Given the description of an element on the screen output the (x, y) to click on. 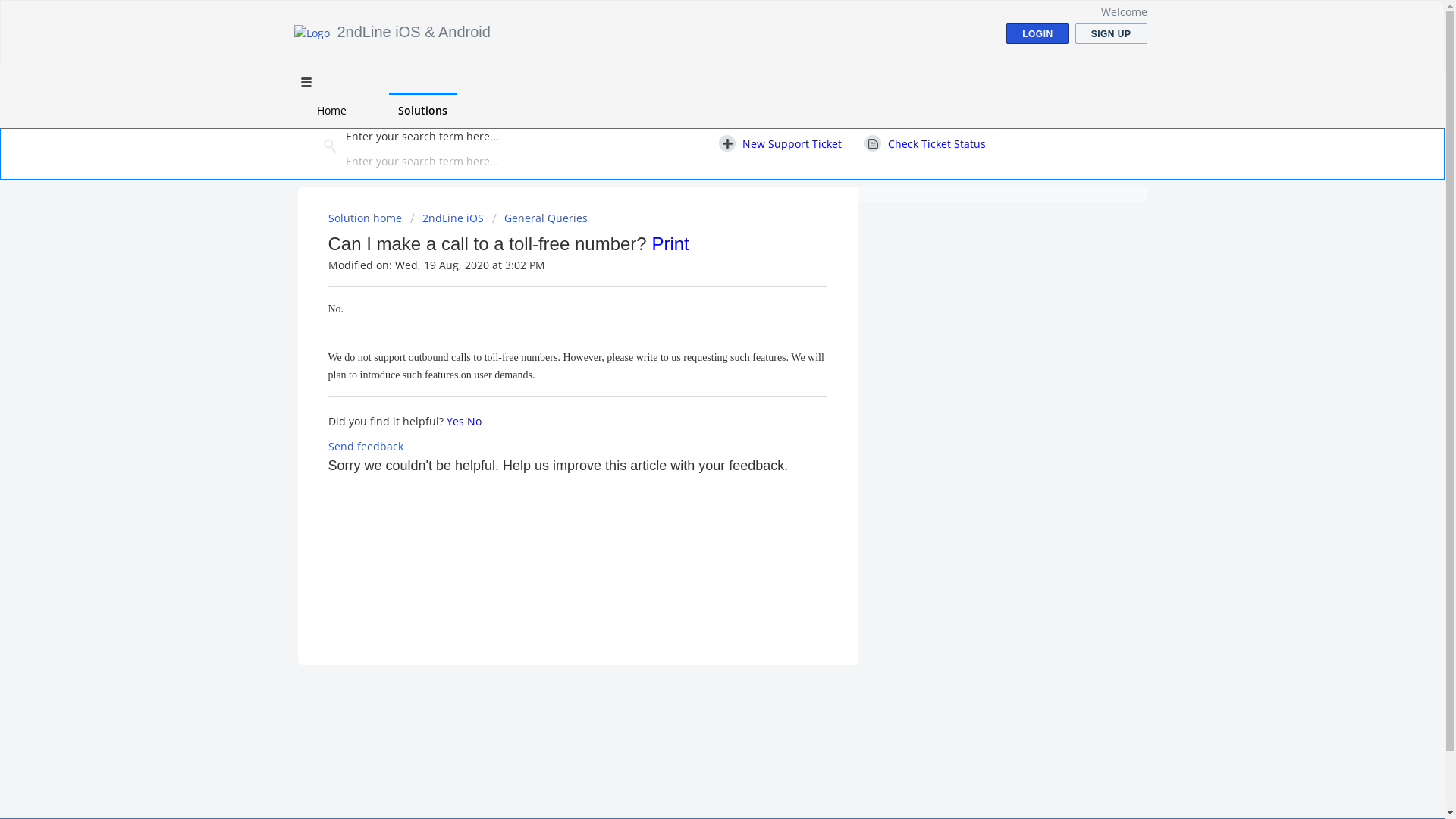
Print Element type: text (669, 243)
Check Ticket Status Element type: text (924, 143)
New Support Ticket Element type: text (779, 143)
Home Element type: text (331, 110)
2ndLine iOS Element type: text (446, 217)
General Queries Element type: text (538, 217)
LOGIN Element type: text (1037, 32)
SIGN UP Element type: text (1111, 32)
Solution home Element type: text (365, 217)
Send feedback Element type: text (364, 446)
Solutions Element type: text (422, 110)
